Given the description of an element on the screen output the (x, y) to click on. 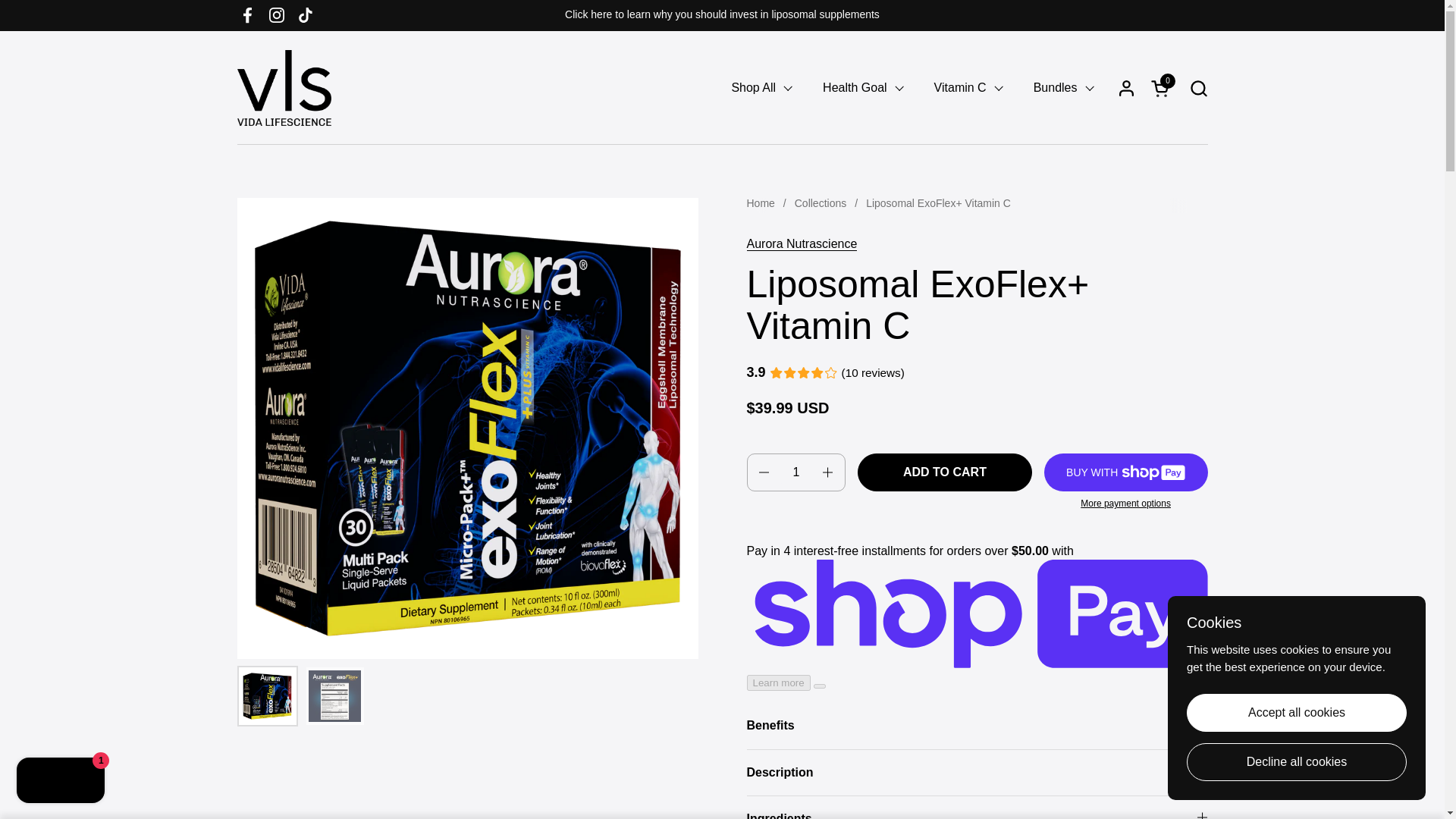
Open search (1198, 87)
Health Goal (863, 87)
Facebook (247, 14)
Instagram (276, 14)
Vitamin C (967, 87)
Bundles (1063, 87)
Shop All (762, 87)
Open cart (1162, 87)
TikTok (1162, 87)
Vida Lifescience (305, 14)
